Given the description of an element on the screen output the (x, y) to click on. 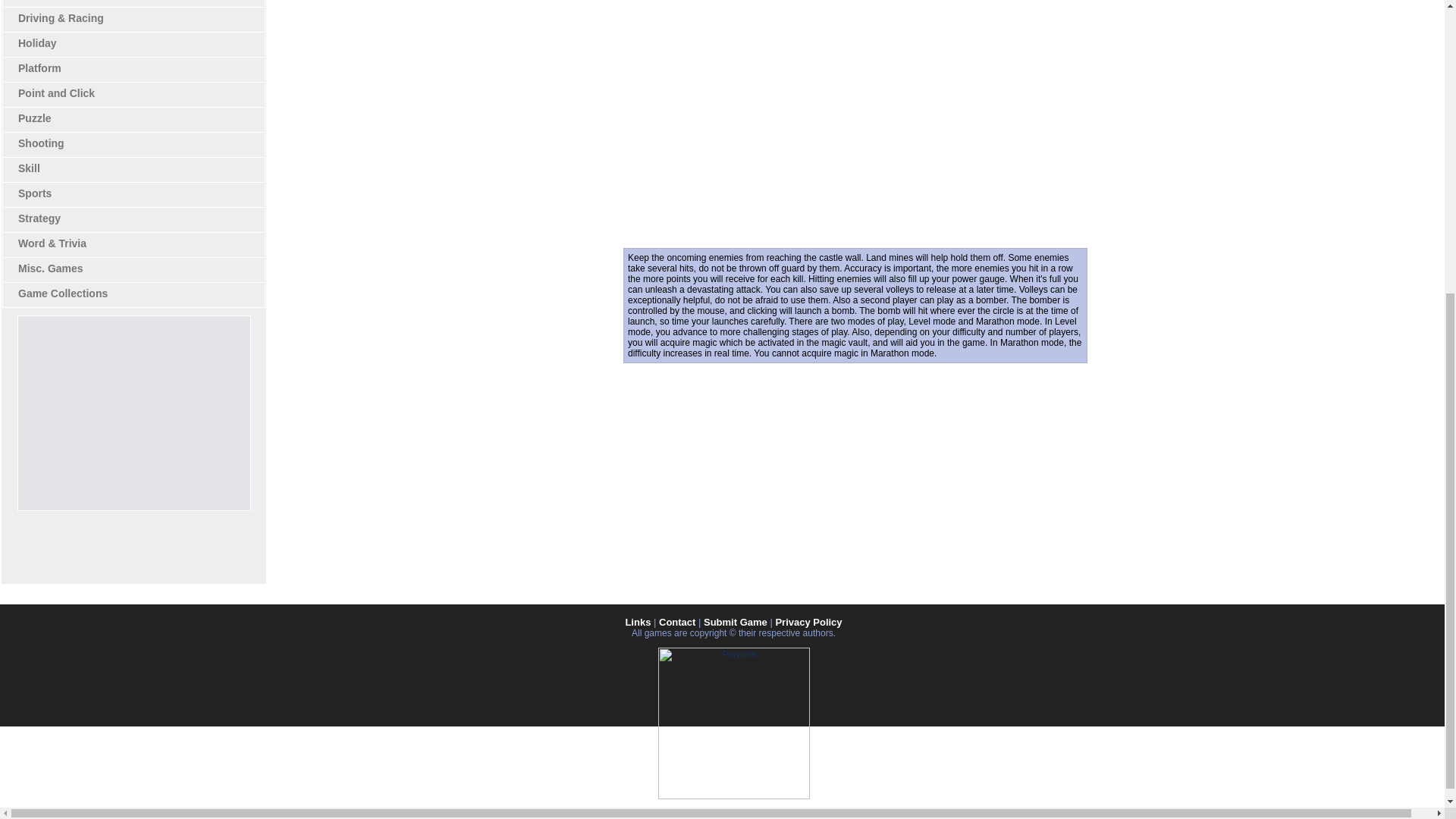
Game Collections (62, 293)
Sports (33, 193)
Strategy (39, 218)
Shooting (40, 143)
Contact (677, 622)
Misc. Games (49, 268)
Submit Game (735, 622)
Skill (28, 168)
Platform (39, 68)
Puzzle (33, 118)
Holiday (36, 42)
Links (637, 622)
Point and Click (55, 92)
Privacy Policy (807, 622)
